Given the description of an element on the screen output the (x, y) to click on. 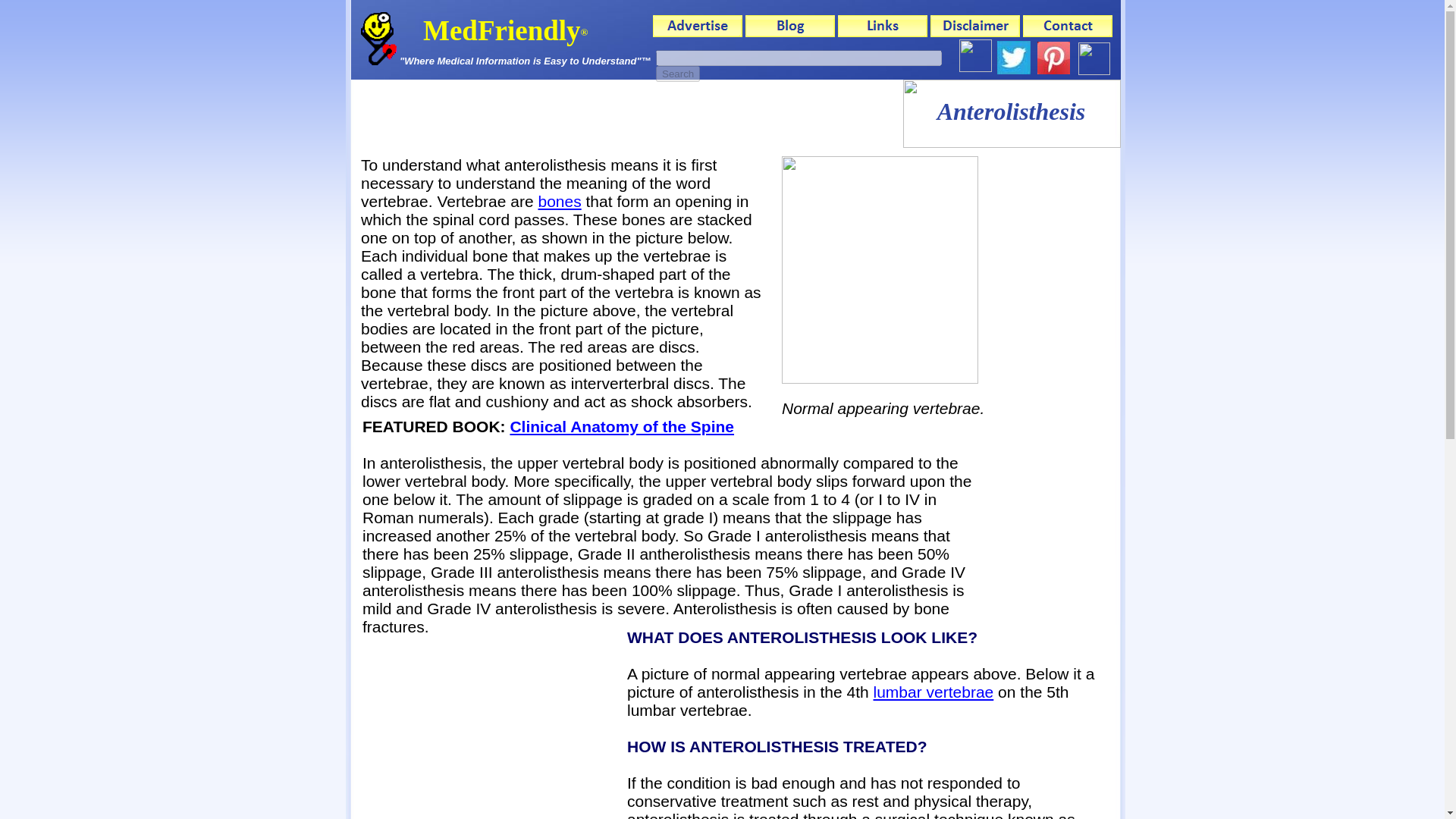
Search (678, 73)
lumbar vertebrae (933, 692)
bones (558, 200)
Search (678, 73)
Advertisement (626, 113)
Clinical Anatomy of the Spine (621, 425)
Advertisement (488, 723)
